Given the description of an element on the screen output the (x, y) to click on. 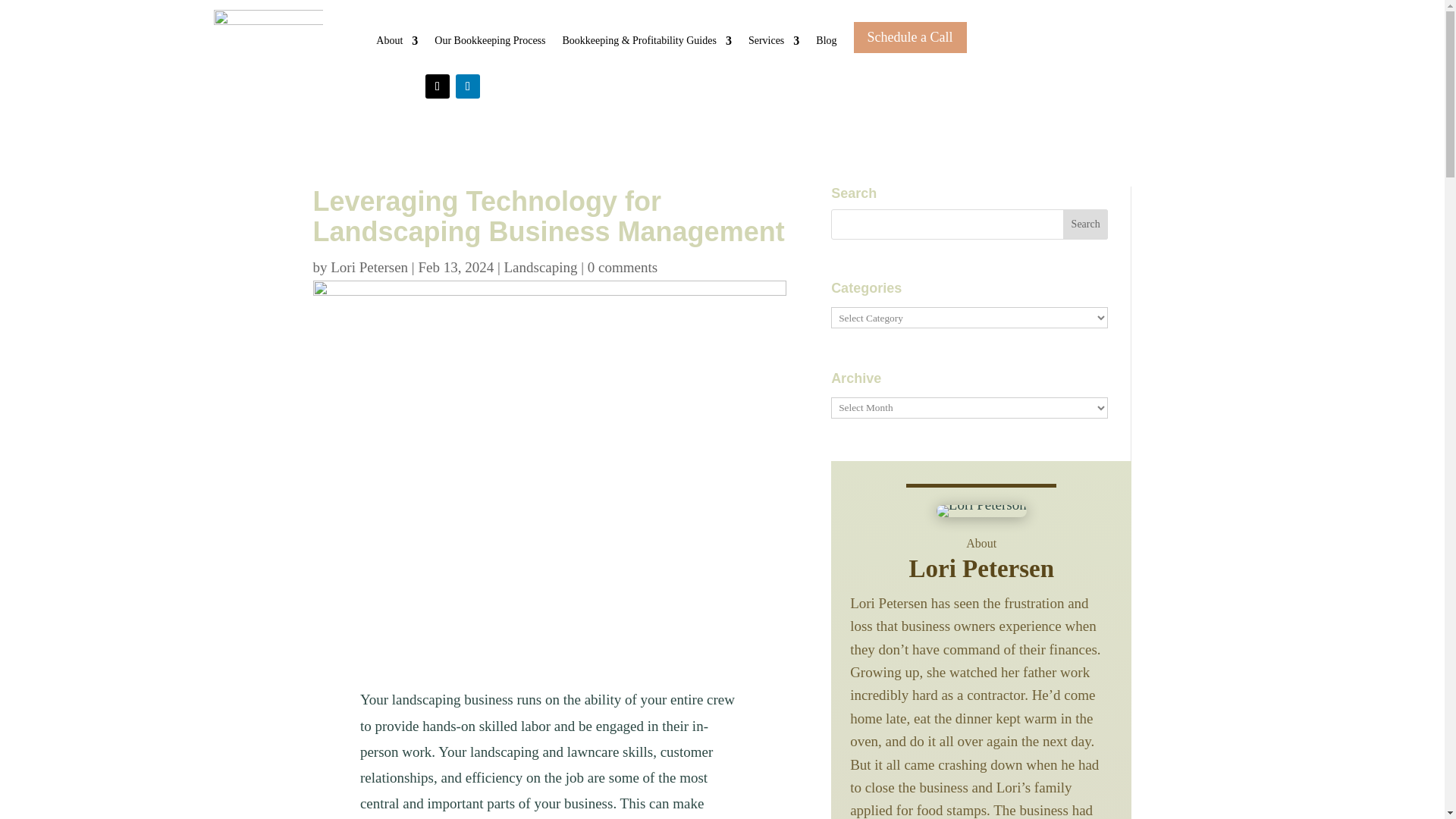
Follow on LinkedIn (467, 86)
Search (1085, 224)
Search (1085, 224)
Our Bookkeeping Process (488, 51)
Posts by Lori Petersen (368, 267)
Follow on Instagram (437, 86)
Landscaping (539, 267)
0 comments (623, 267)
Schedule a Call (909, 36)
Services (773, 51)
